Given the description of an element on the screen output the (x, y) to click on. 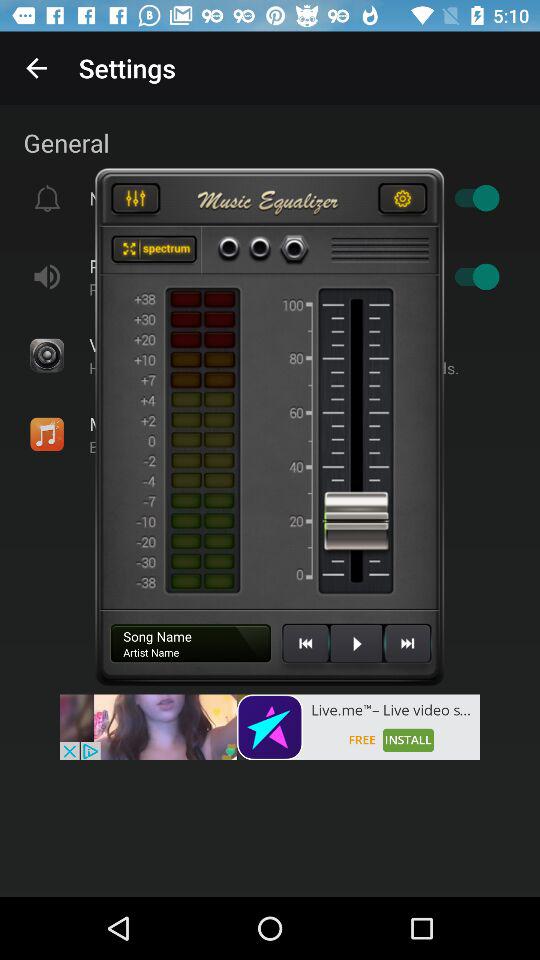
adjust music (135, 201)
